Given the description of an element on the screen output the (x, y) to click on. 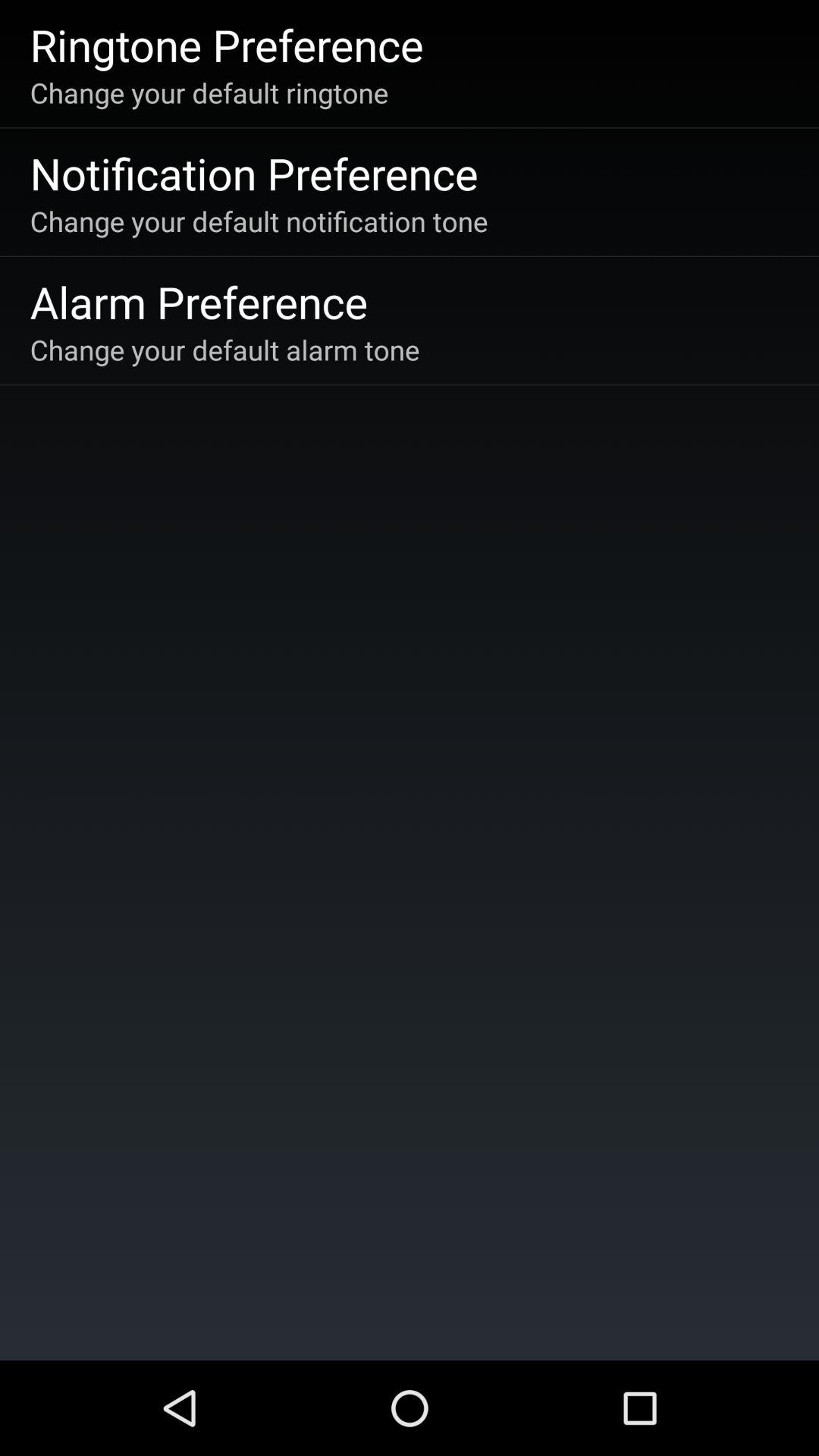
tap the item below the change your default icon (198, 301)
